Given the description of an element on the screen output the (x, y) to click on. 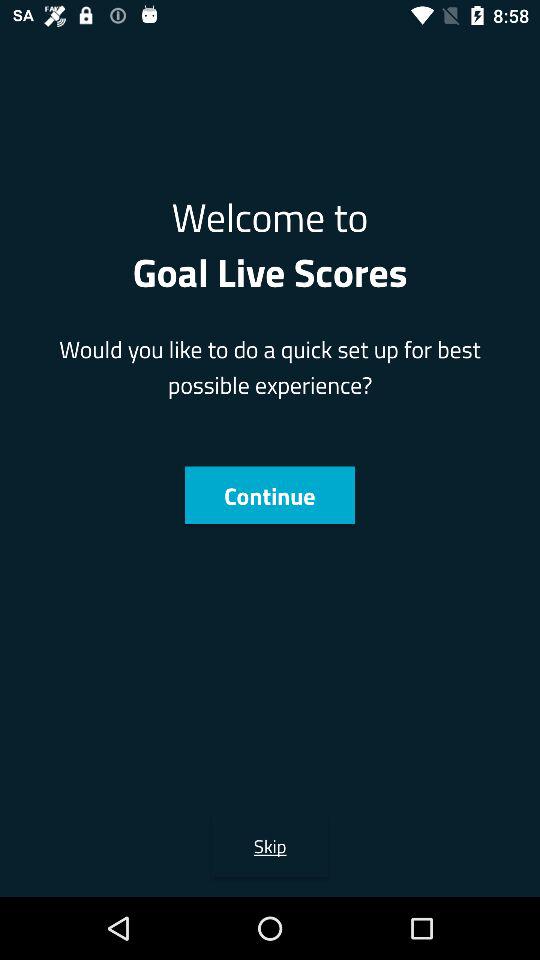
open the icon above skip icon (269, 495)
